Given the description of an element on the screen output the (x, y) to click on. 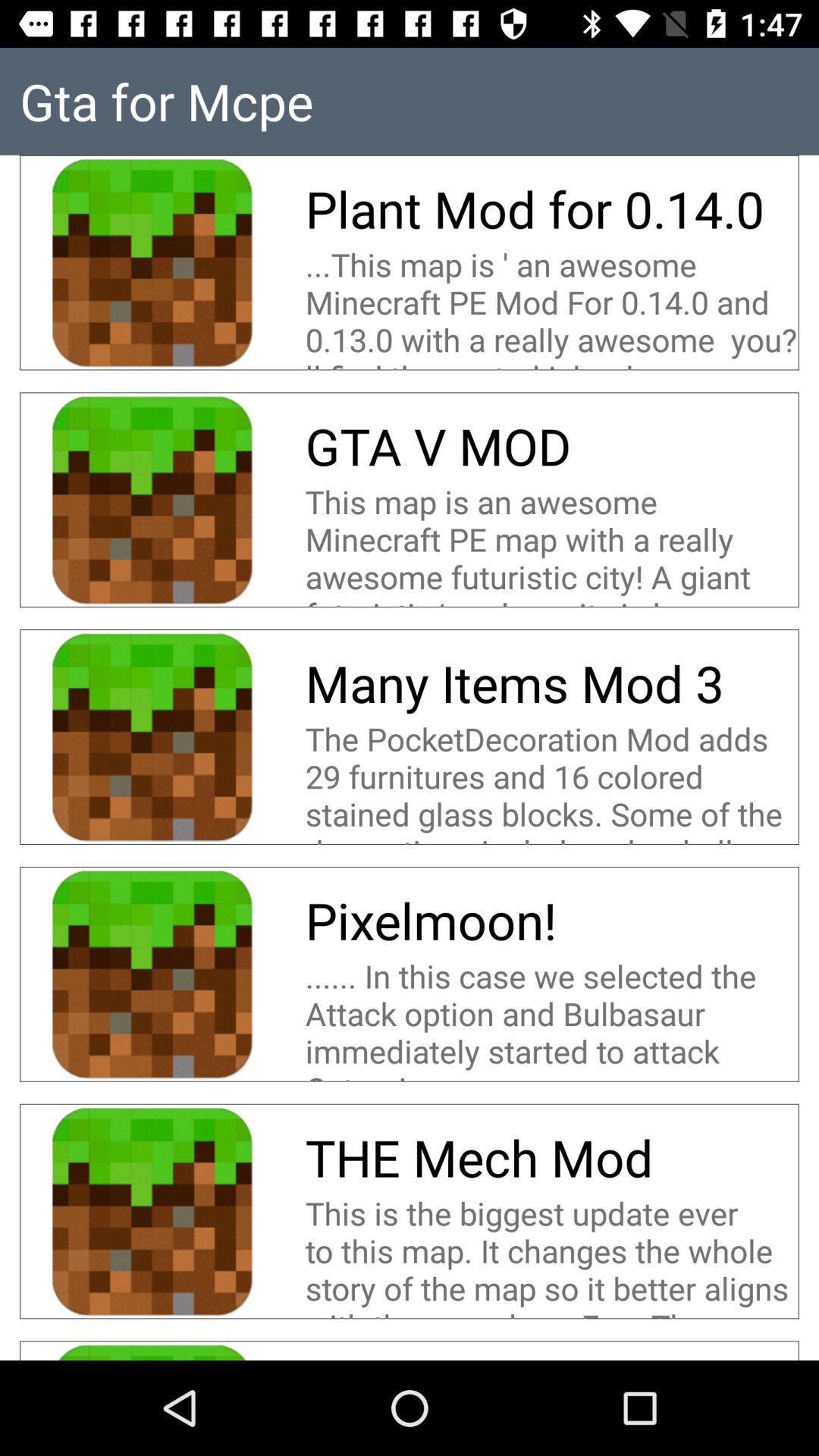
open the item above the pixelmoon! icon (552, 780)
